Given the description of an element on the screen output the (x, y) to click on. 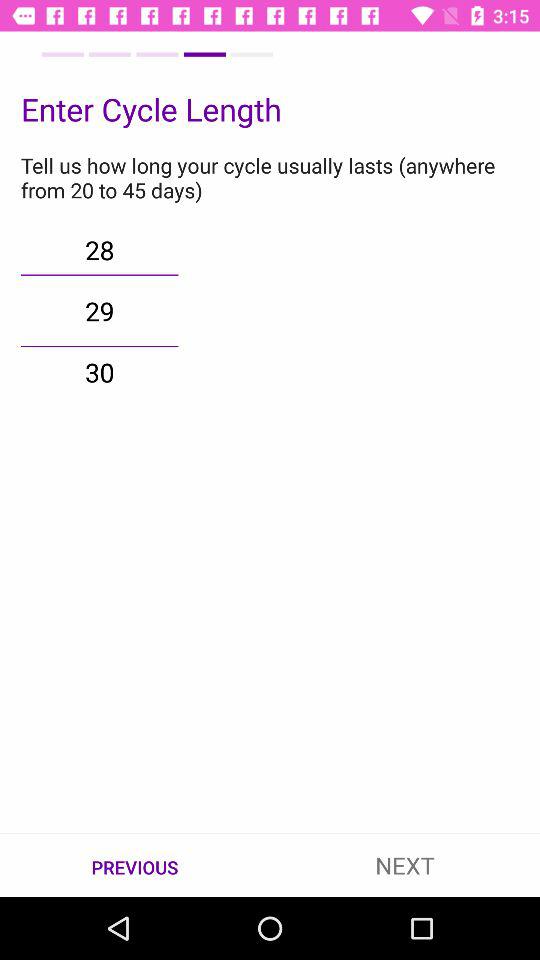
open the previous item (135, 865)
